Given the description of an element on the screen output the (x, y) to click on. 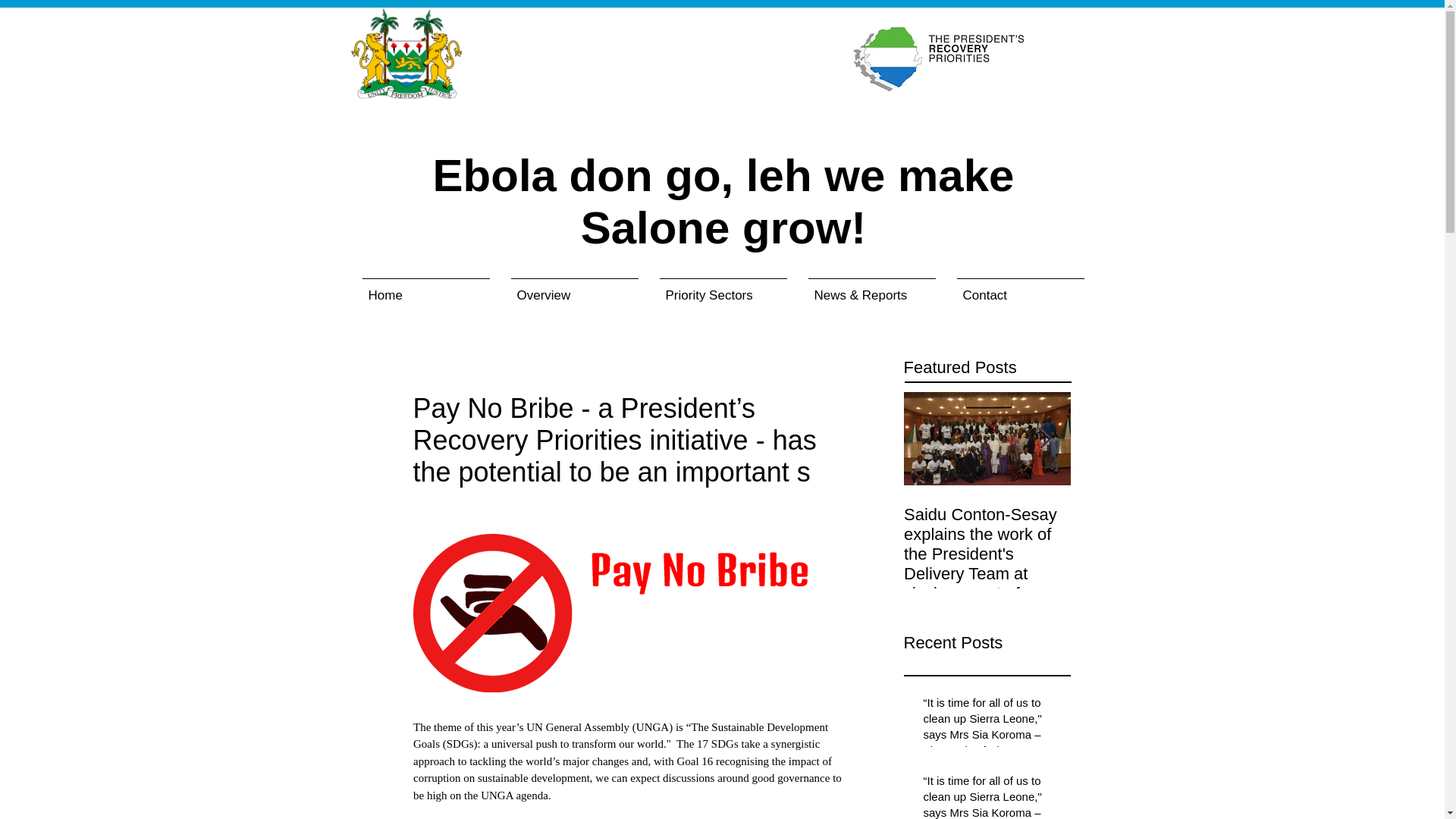
Home (426, 288)
Contact (1020, 288)
